Given the description of an element on the screen output the (x, y) to click on. 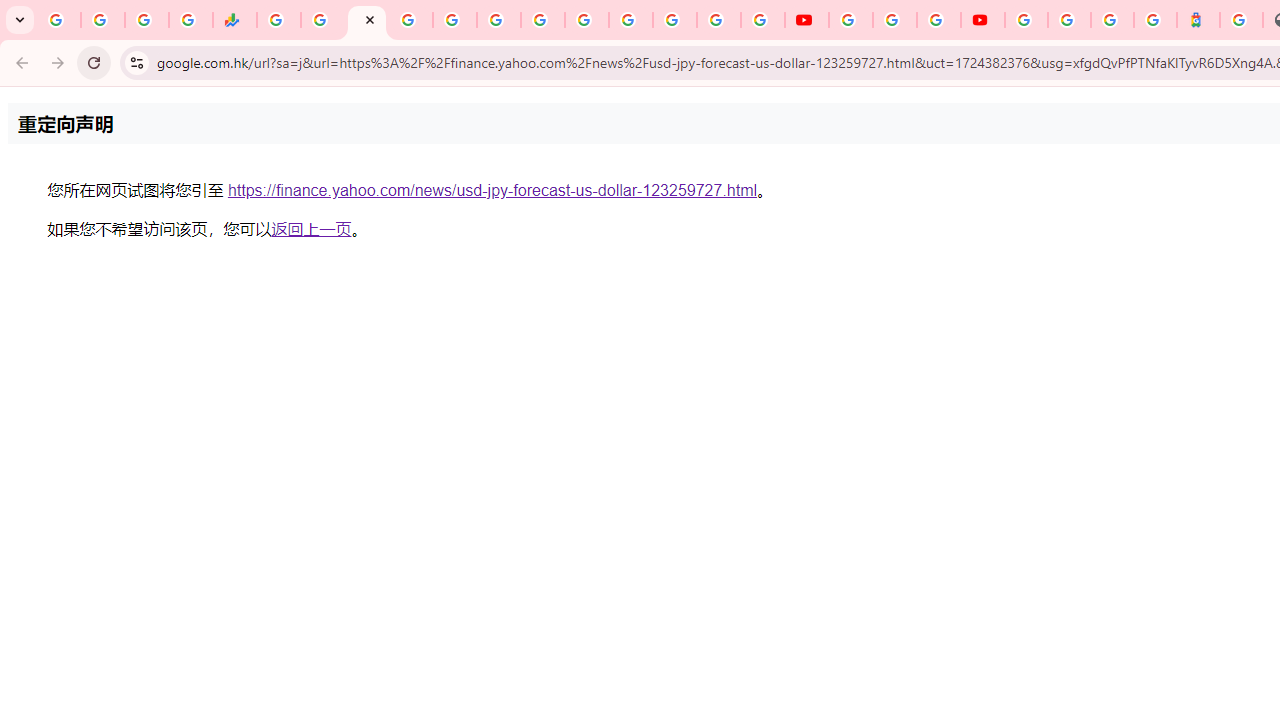
Android TV Policies and Guidelines - Transparency Center (542, 20)
Atour Hotel - Google hotels (1197, 20)
YouTube (586, 20)
Create your Google Account (938, 20)
YouTube (850, 20)
